Given the description of an element on the screen output the (x, y) to click on. 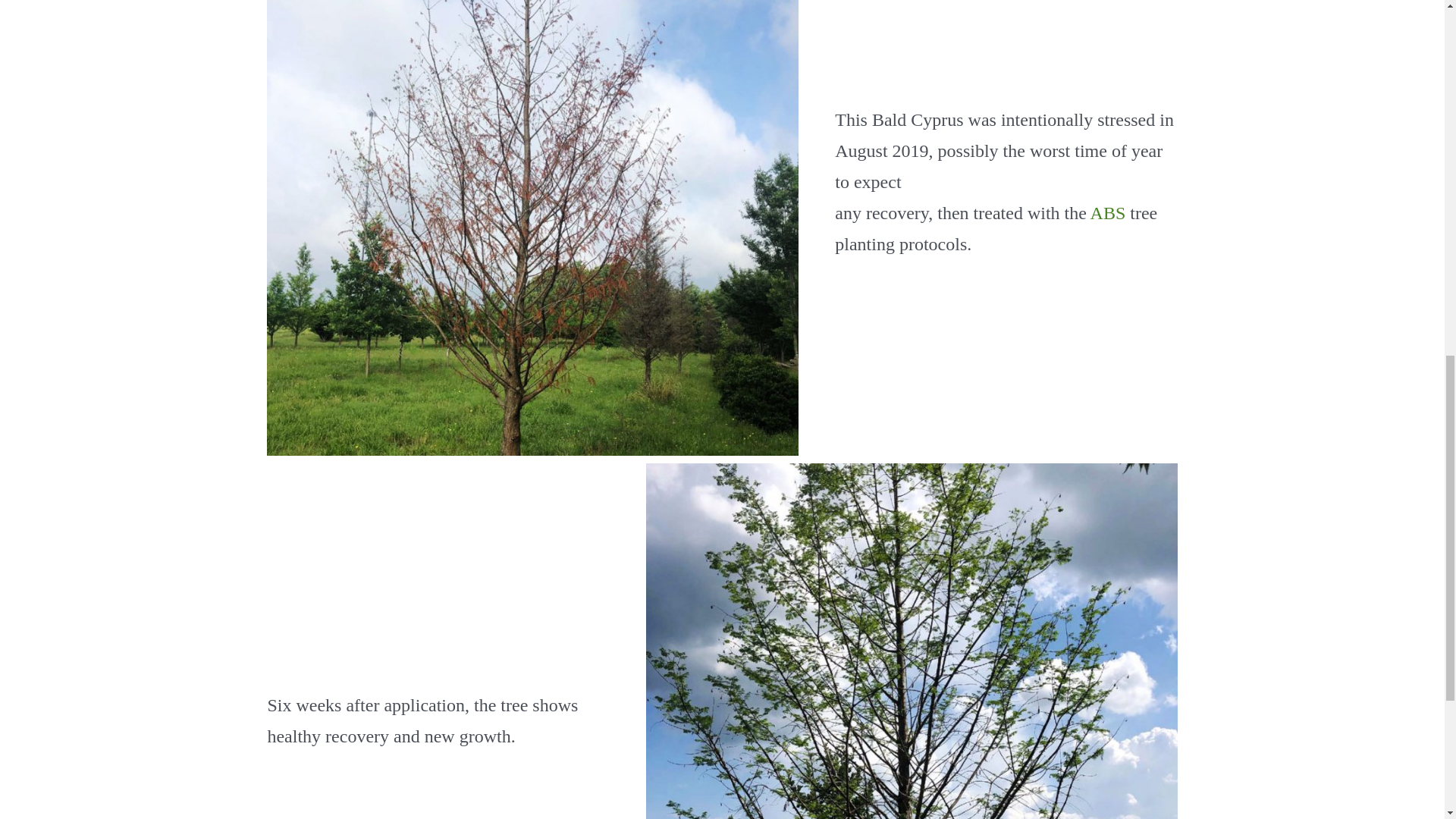
ABS (1107, 212)
